Given the description of an element on the screen output the (x, y) to click on. 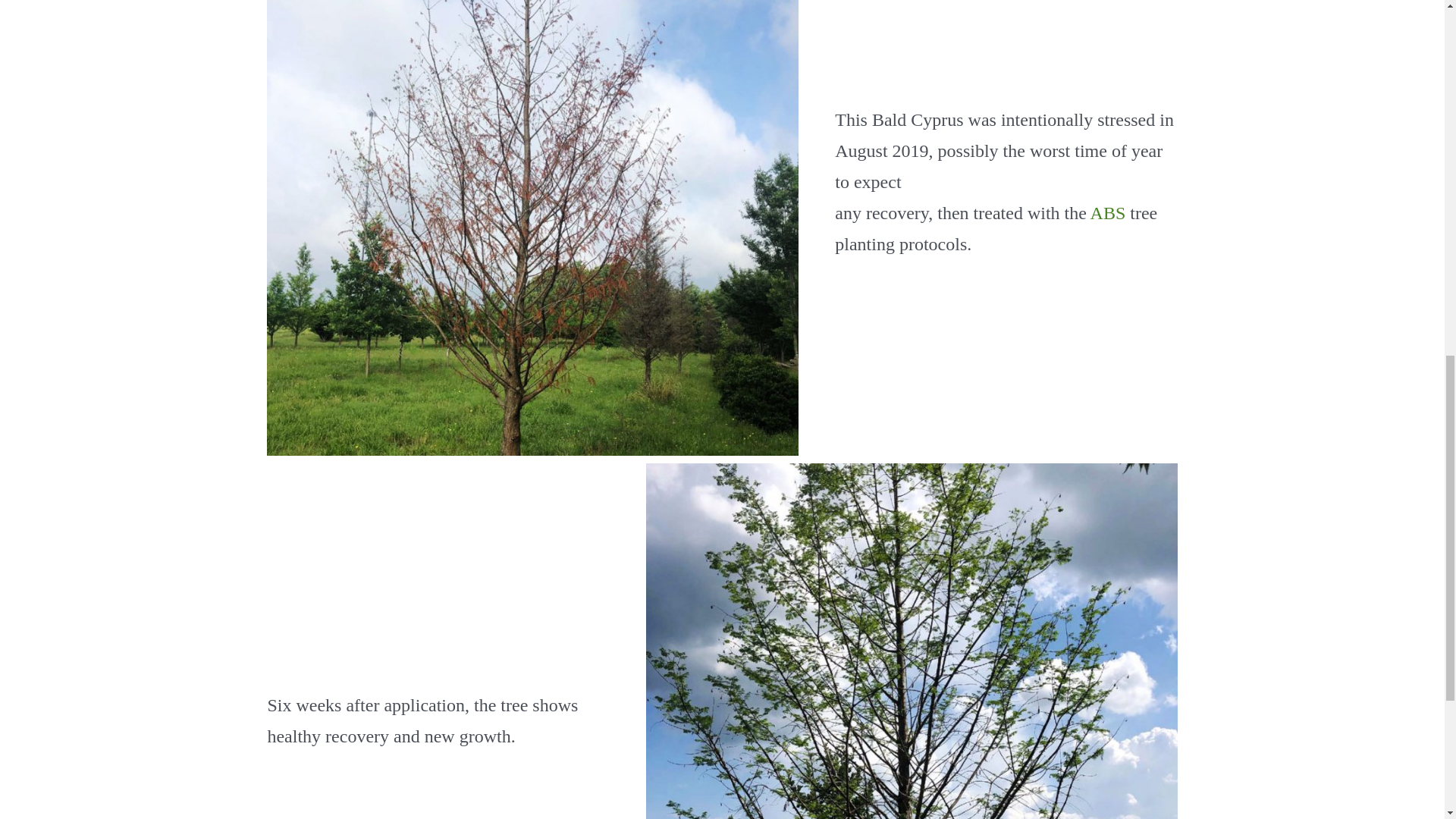
ABS (1107, 212)
